Given the description of an element on the screen output the (x, y) to click on. 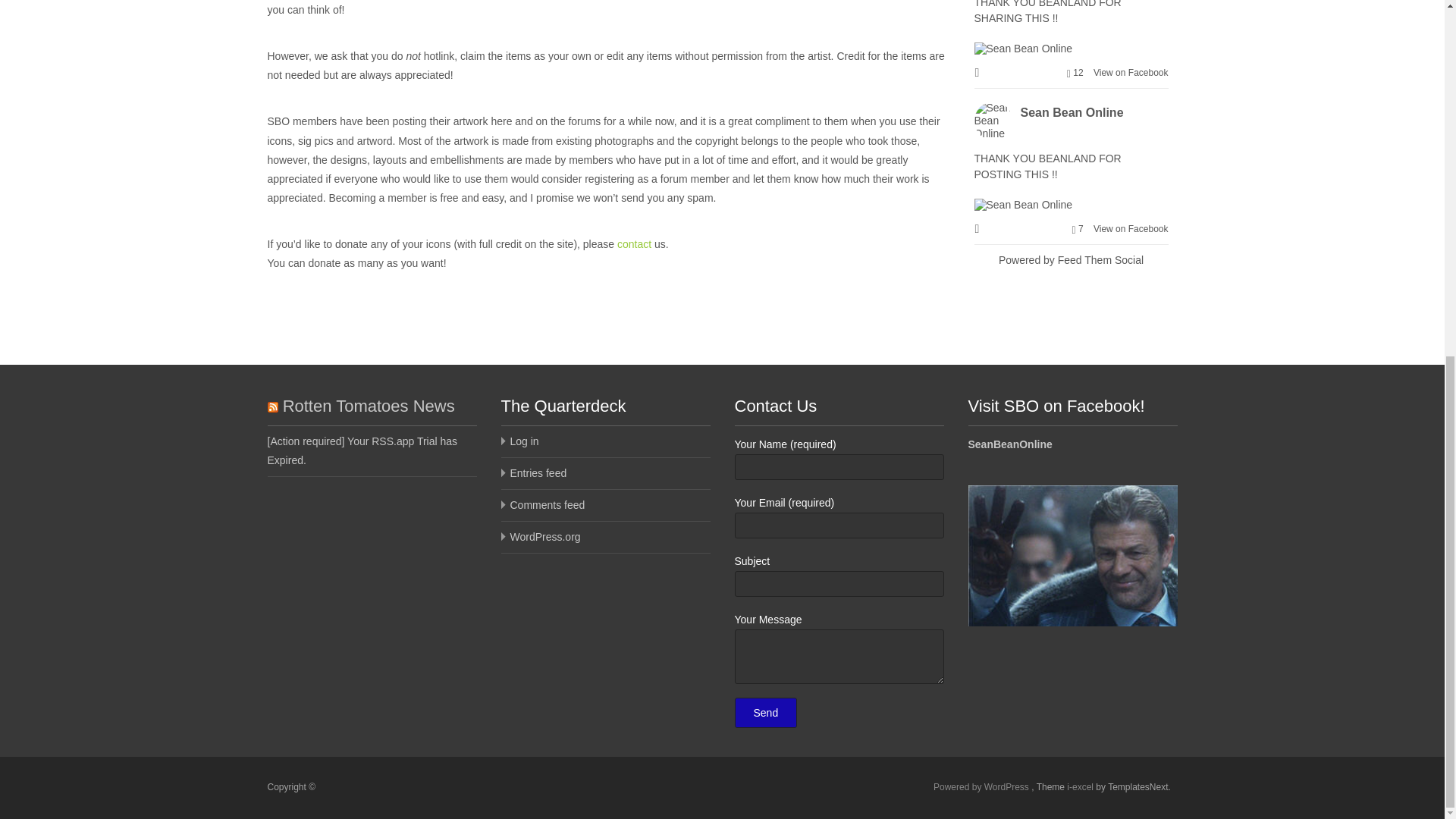
contact (633, 244)
Social Share Options (979, 72)
Send (764, 712)
